Given the description of an element on the screen output the (x, y) to click on. 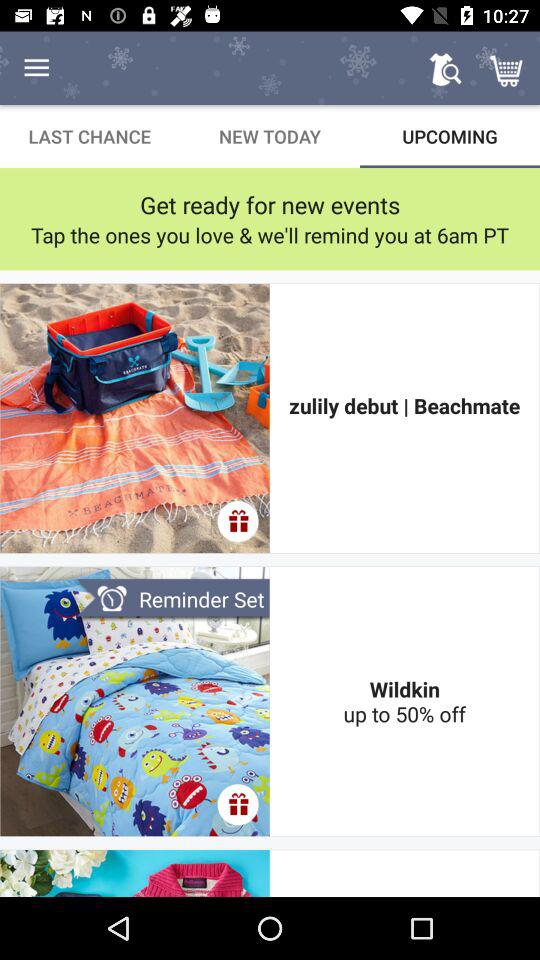
open icon above the upcoming item (508, 67)
